Given the description of an element on the screen output the (x, y) to click on. 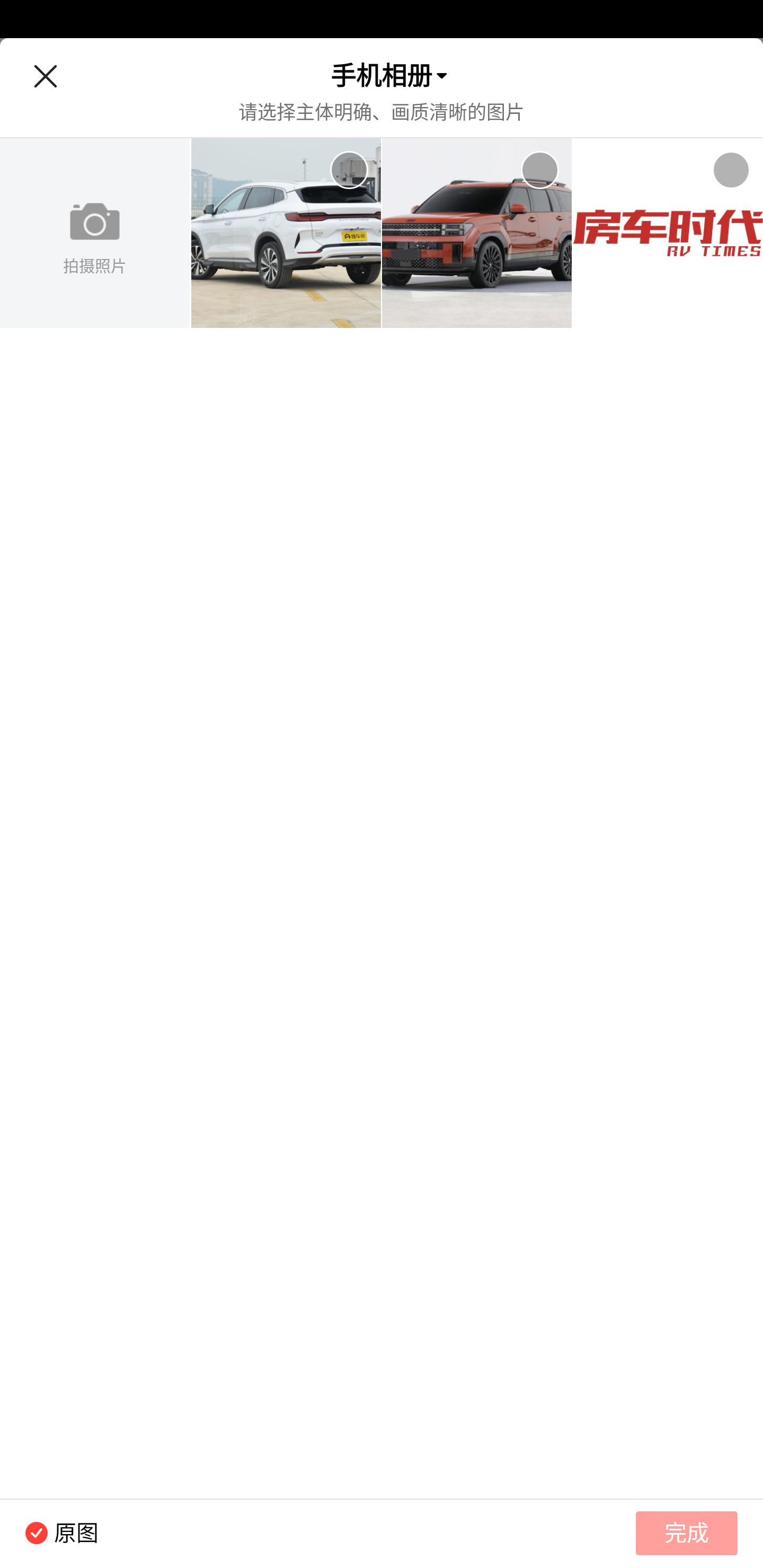
返回 (44, 75)
手机相册 (381, 75)
拍摄照片 (94, 232)
图片1 (285, 232)
图片2 (476, 232)
图片3 (668, 232)
已选中，原图， 原图 完成 完成 (381, 1533)
已选中，原图， 原图 (49, 1533)
